Given the description of an element on the screen output the (x, y) to click on. 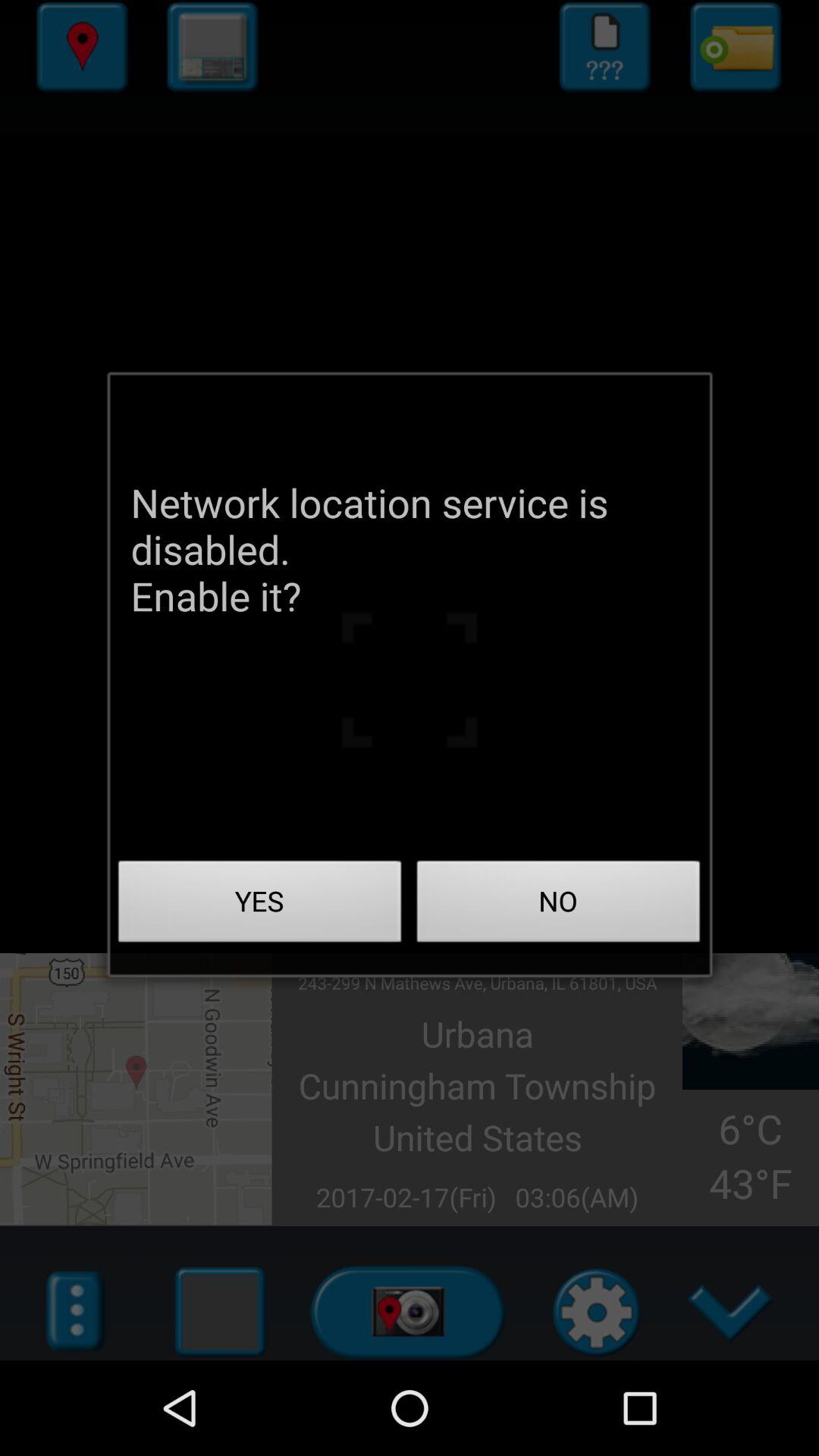
flip until no button (558, 905)
